Given the description of an element on the screen output the (x, y) to click on. 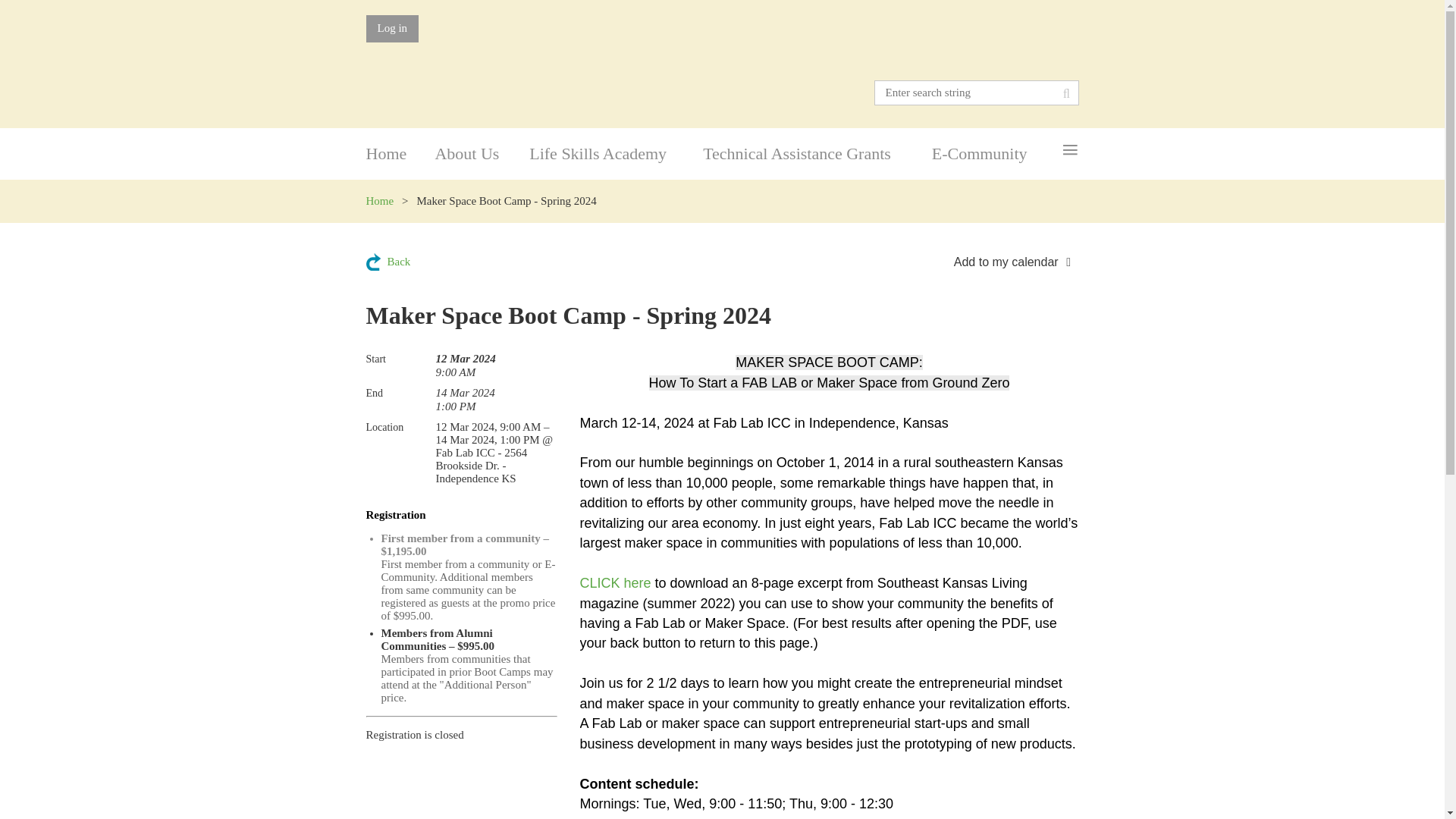
Life Skills Academy (616, 153)
Log in (392, 28)
Home (379, 200)
E-Community (995, 153)
E-Community (995, 153)
Life Skills Academy (616, 153)
About Us (481, 153)
About Us (468, 577)
CLICK here (481, 153)
